Given the description of an element on the screen output the (x, y) to click on. 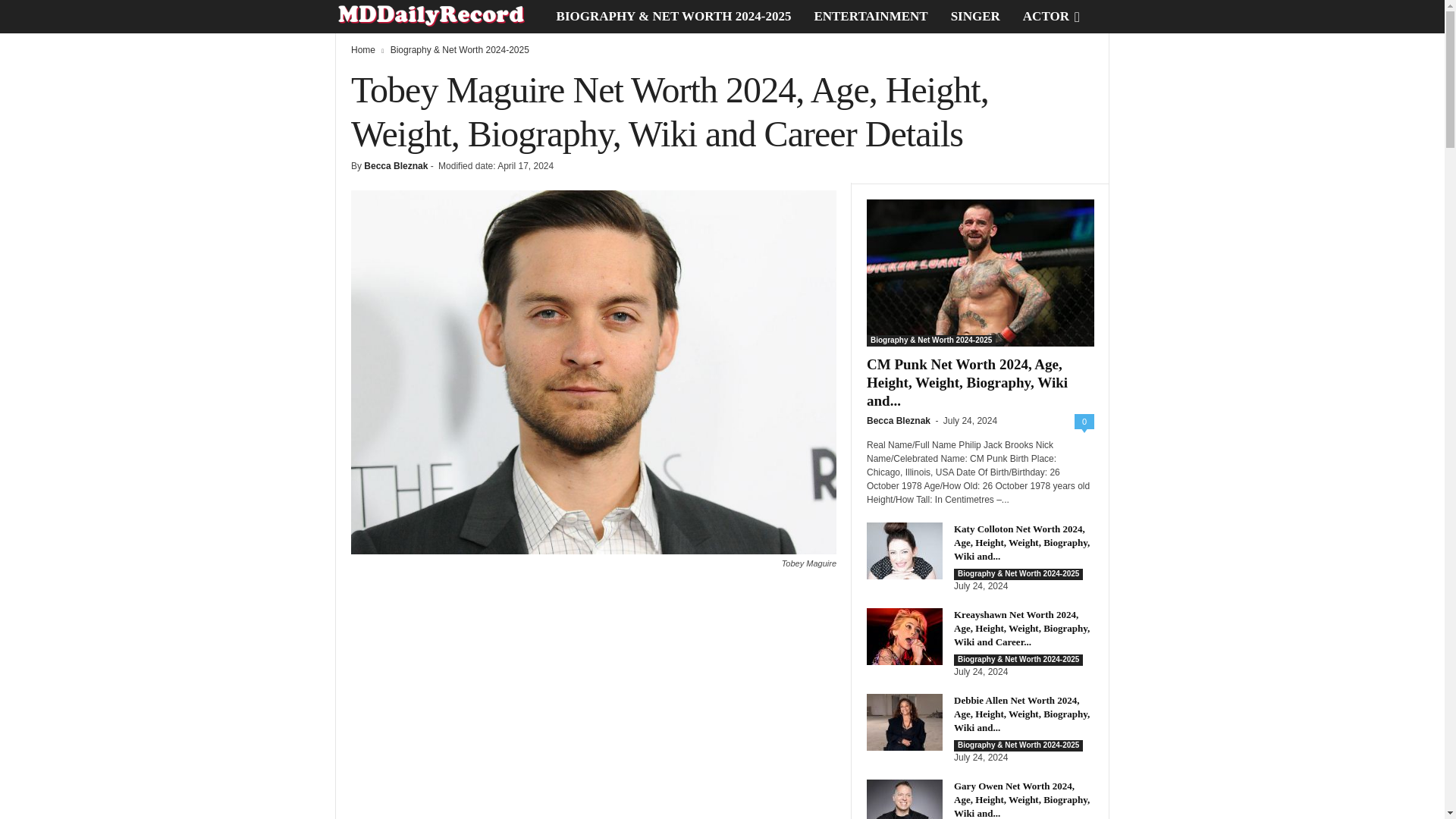
SINGER (975, 16)
ACTOR (1045, 16)
ENTERTAINMENT (870, 16)
MD Daily Record (439, 16)
Home (362, 50)
Advertisement (592, 704)
Becca Bleznak (396, 165)
